Given the description of an element on the screen output the (x, y) to click on. 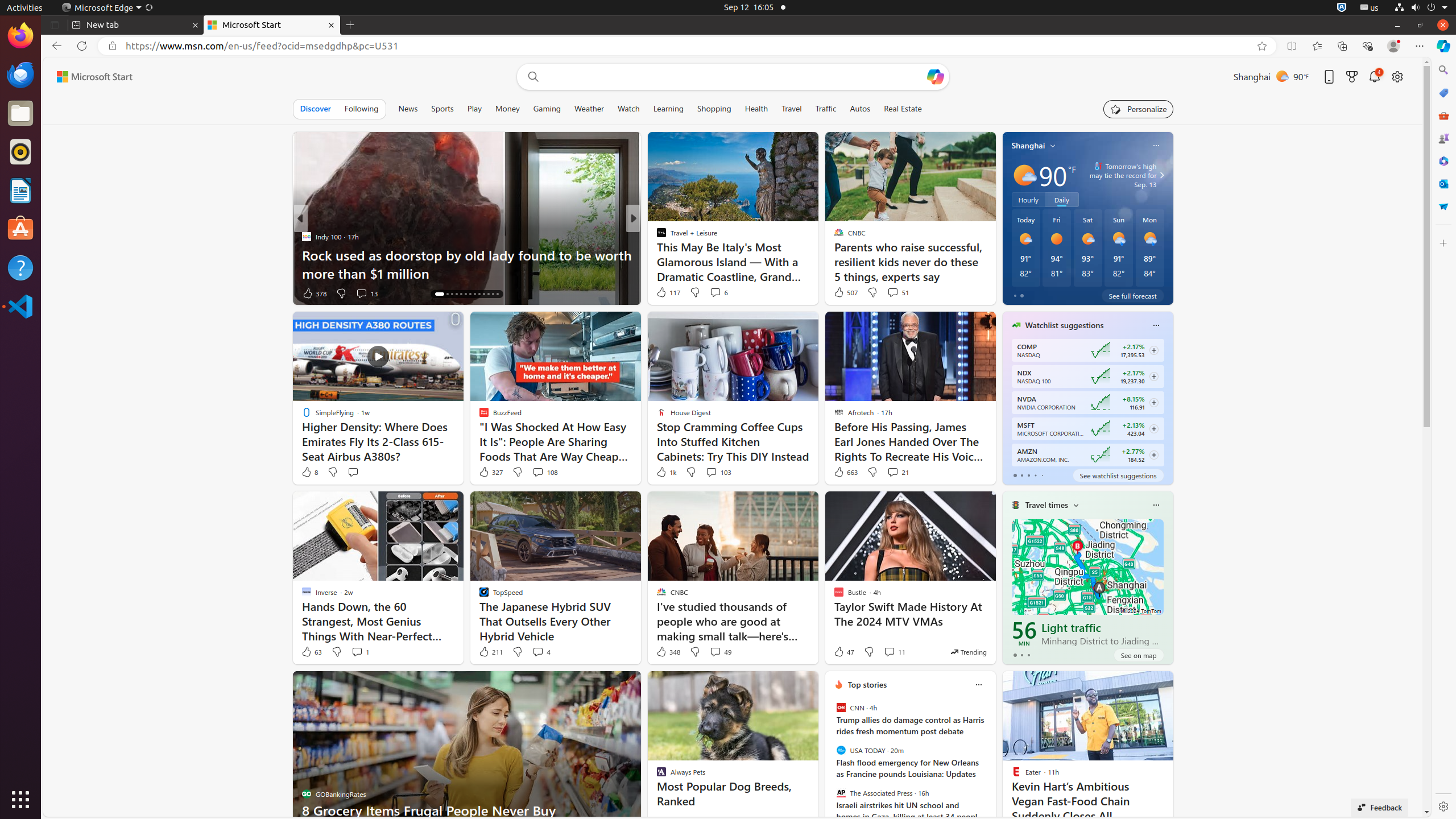
Privacy & Cookies Element type: link (1168, 809)
Feedback Element type: push-button (1379, 807)
Following Element type: link (360, 108)
Settings and more (Alt+F) Element type: push-button (1419, 45)
Open settings Element type: push-button (1397, 76)
